Given the description of an element on the screen output the (x, y) to click on. 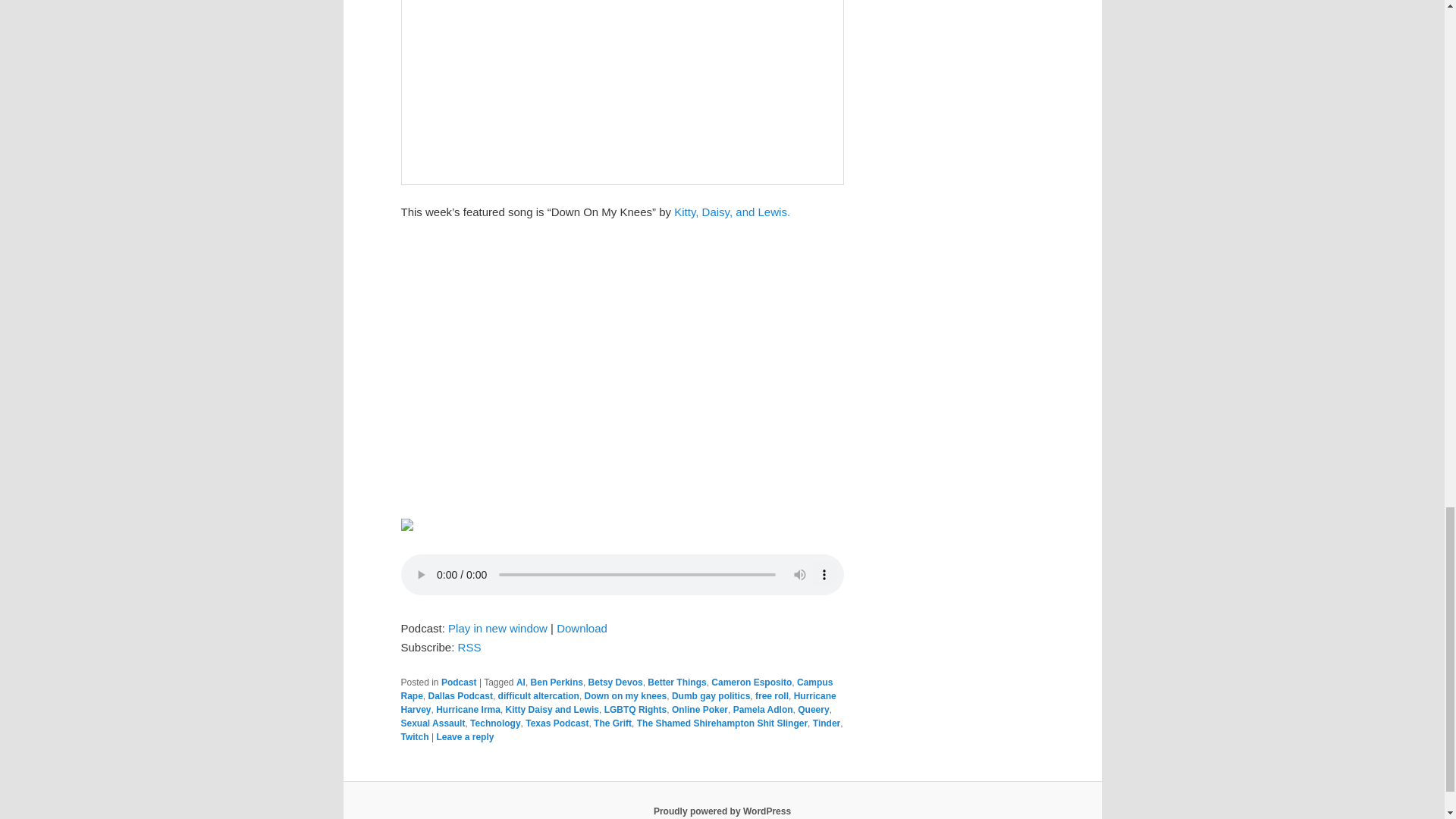
Play in new window (497, 627)
Download (581, 627)
Dallas Podcast (460, 696)
Ben Perkins (557, 682)
AI (520, 682)
Down on my knees (625, 696)
Download (581, 627)
difficult altercation (538, 696)
Podcast (459, 682)
Betsy Devos (615, 682)
RSS (469, 646)
Hurricane Harvey (617, 702)
Semantic Personal Publishing Platform (721, 810)
Play in new window (497, 627)
Subscribe via RSS (469, 646)
